Given the description of an element on the screen output the (x, y) to click on. 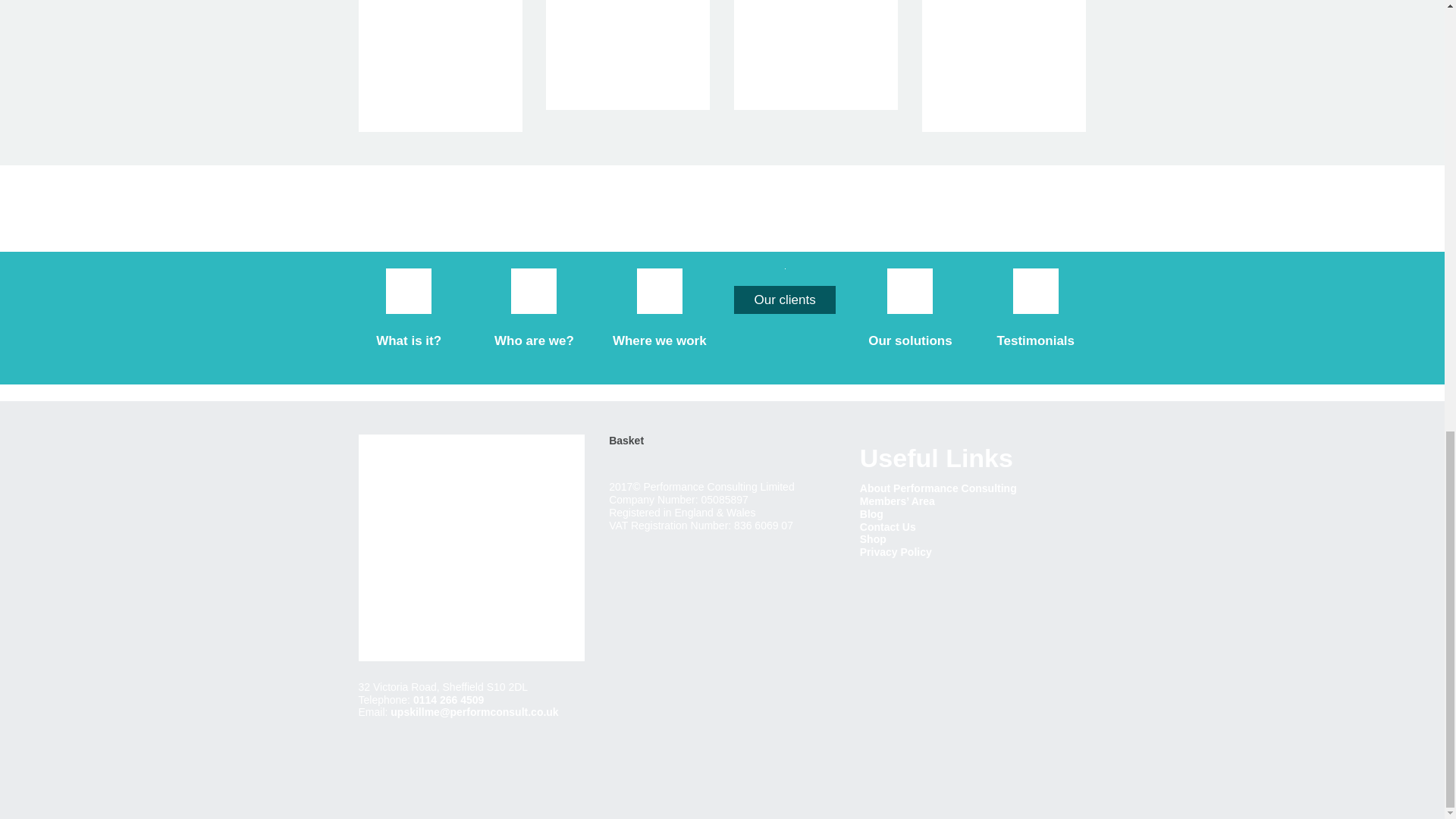
What is it? (408, 340)
Our solutions (909, 340)
Who are we? (534, 340)
Testimonials (1034, 340)
Where we work (659, 340)
